Given the description of an element on the screen output the (x, y) to click on. 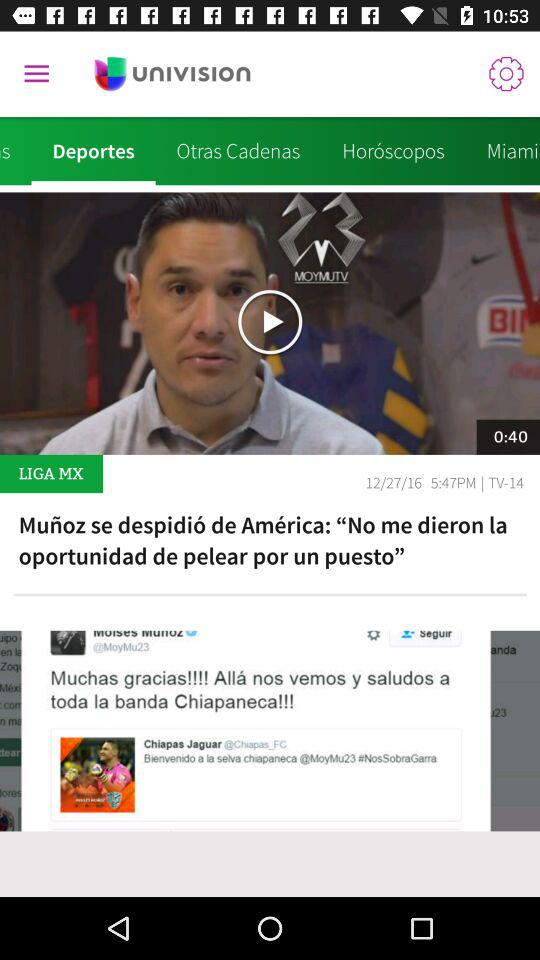
choose icon next to the deportes (15, 151)
